Given the description of an element on the screen output the (x, y) to click on. 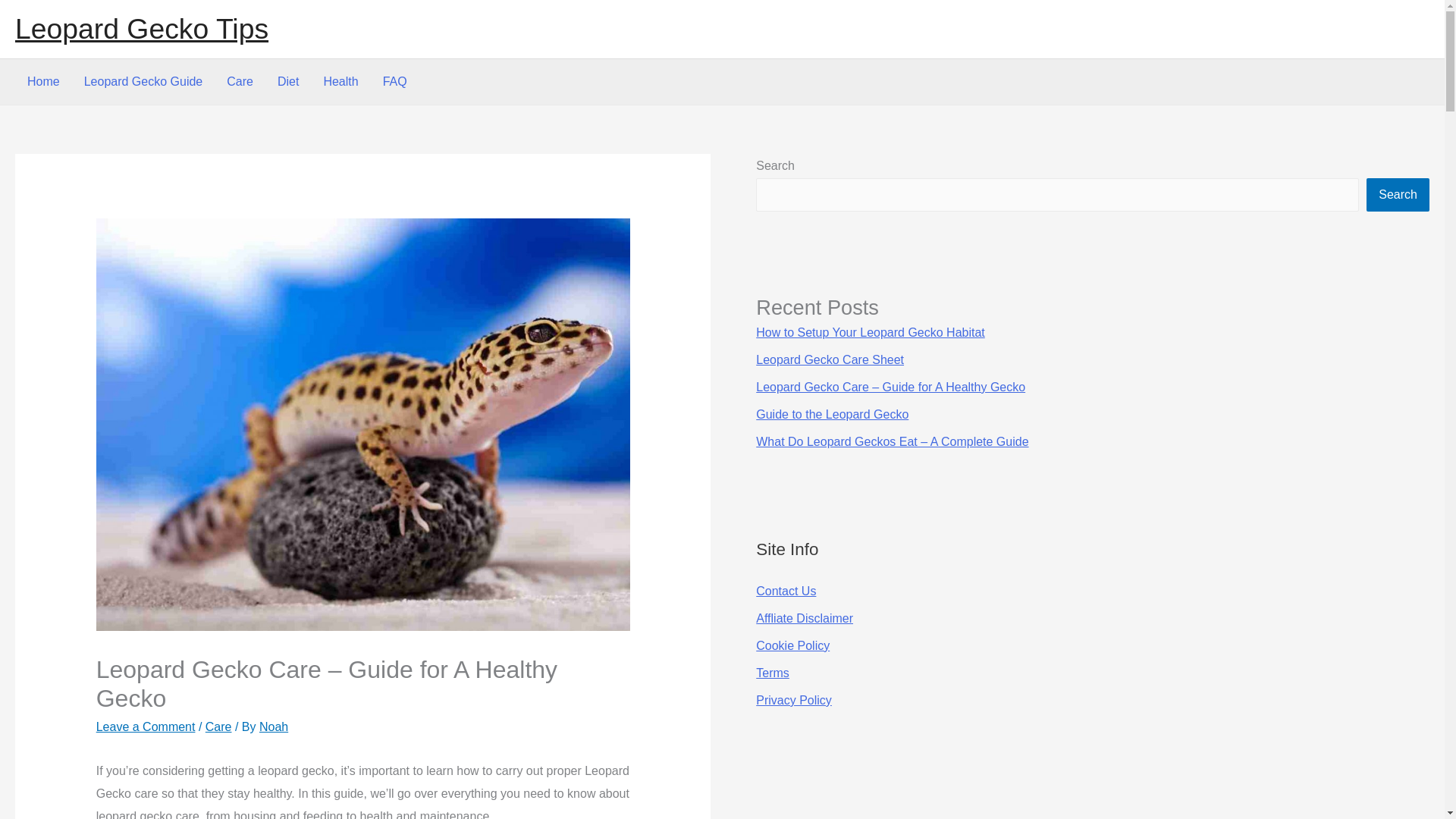
Privacy Policy (793, 699)
Leave a Comment (145, 726)
Noah (273, 726)
Leopard Gecko Guide (143, 81)
Terms (772, 672)
View all posts by Noah (273, 726)
Home (42, 81)
FAQ (395, 81)
Cookie Policy (792, 645)
Guide to the Leopard Gecko (831, 413)
Search (1398, 194)
Health (340, 81)
How to Setup Your Leopard Gecko Habitat (870, 332)
Care (218, 726)
Care (239, 81)
